Given the description of an element on the screen output the (x, y) to click on. 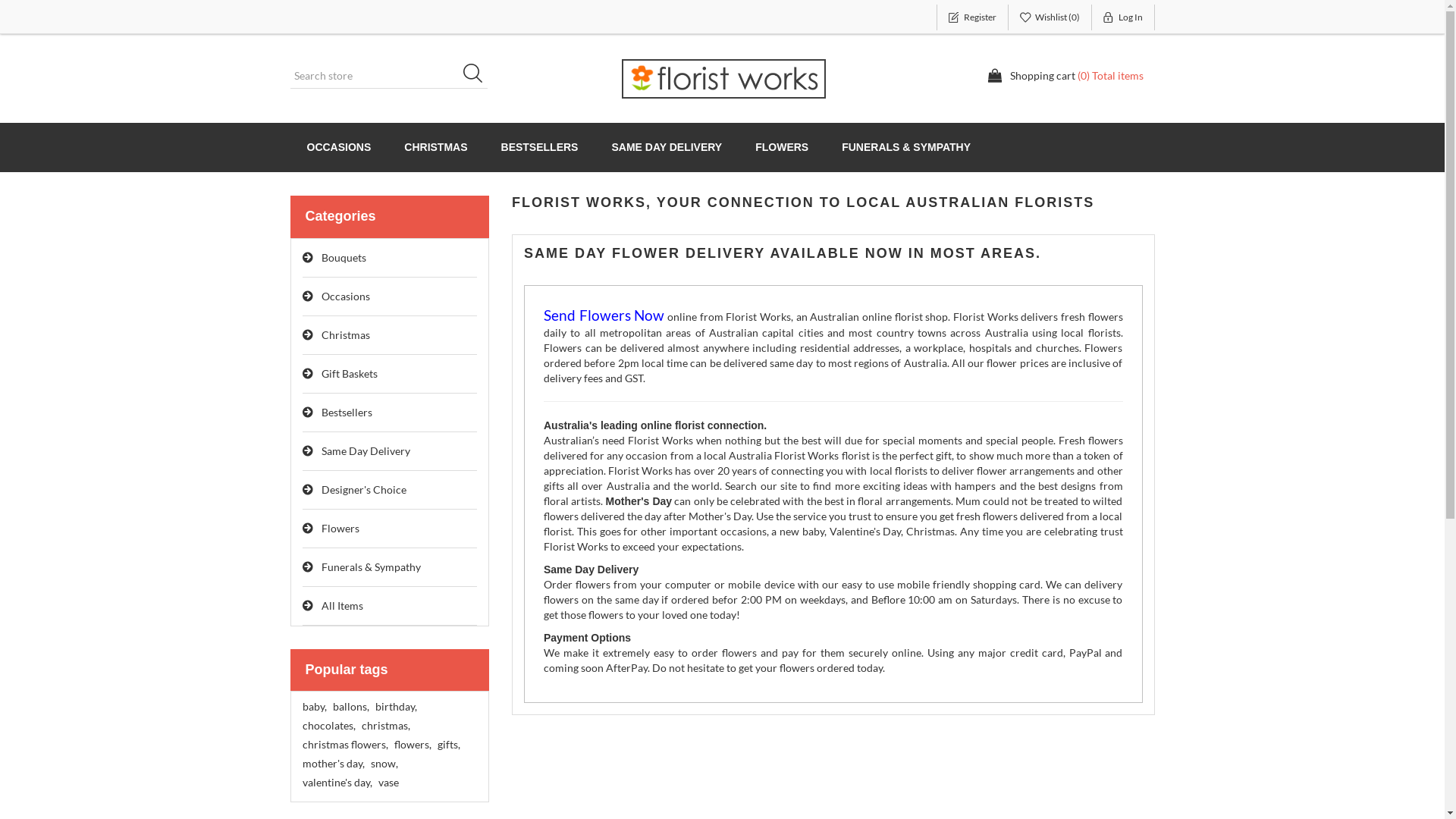
ballons, Element type: text (350, 706)
snow, Element type: text (383, 763)
Log In Element type: text (1123, 17)
Bestsellers Element type: text (388, 412)
Bouquets Element type: text (388, 257)
Same Day Delivery Element type: text (388, 451)
SAME DAY DELIVERY Element type: text (666, 147)
gifts, Element type: text (447, 744)
christmas flowers, Element type: text (344, 744)
All Items Element type: text (388, 605)
Wishlist (0) Element type: text (1050, 17)
Shopping cart (0) Total items Element type: text (1065, 75)
baby, Element type: text (313, 706)
Designer's Choice Element type: text (388, 489)
flowers, Element type: text (412, 744)
Occasions Element type: text (388, 296)
Christmas Element type: text (388, 335)
CHRISTMAS Element type: text (435, 147)
christmas, Element type: text (384, 725)
chocolates, Element type: text (327, 725)
birthday, Element type: text (395, 706)
mother's day, Element type: text (332, 763)
Flowers Element type: text (388, 528)
Register Element type: text (971, 17)
Gift Baskets Element type: text (388, 373)
Send Flowers Now Element type: text (603, 316)
BESTSELLERS Element type: text (539, 147)
valentine's day, Element type: text (336, 782)
FUNERALS & SYMPATHY Element type: text (906, 147)
Funerals & Sympathy Element type: text (388, 567)
OCCASIONS Element type: text (338, 147)
vase Element type: text (387, 782)
FLOWERS Element type: text (781, 147)
